Given the description of an element on the screen output the (x, y) to click on. 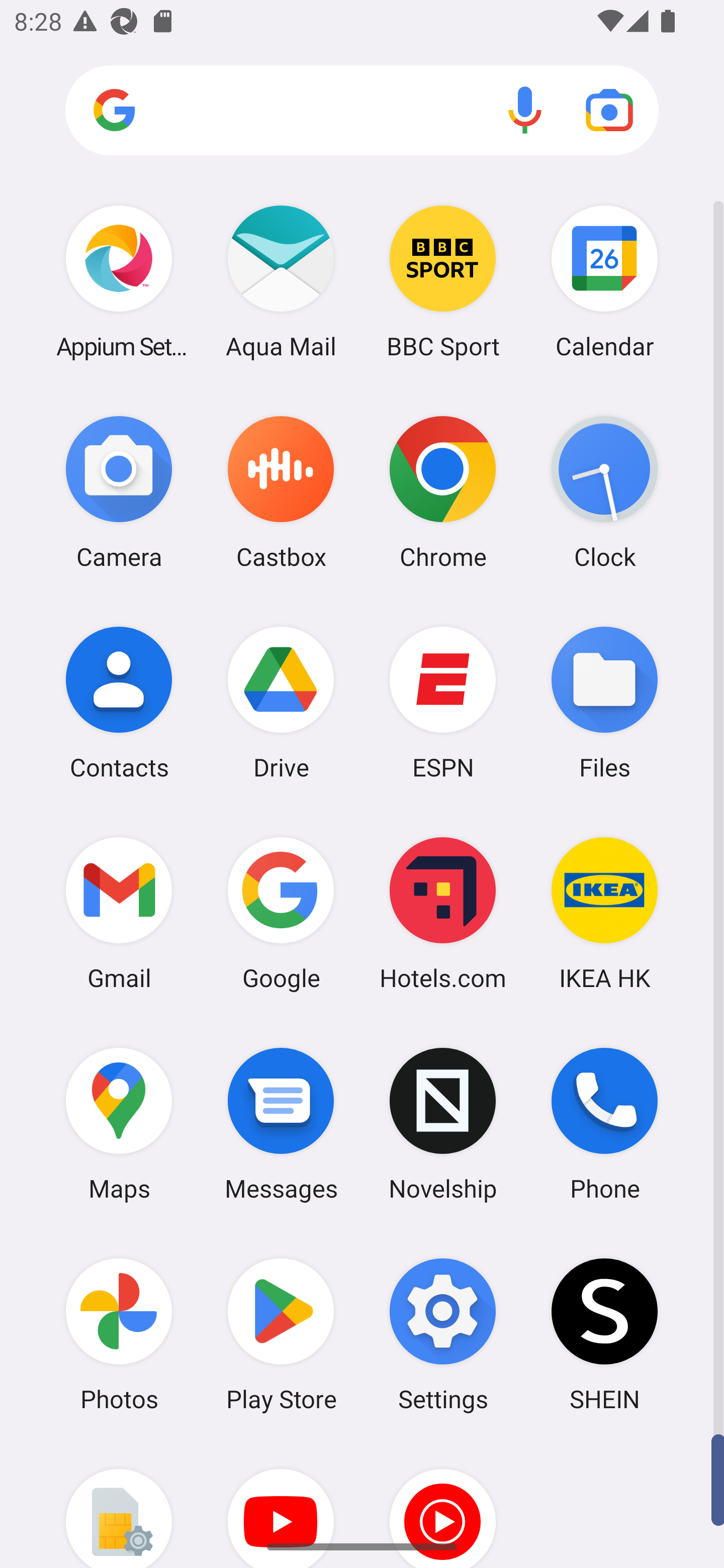
Search apps, web and more (361, 110)
Voice search (524, 109)
Google Lens (608, 109)
Appium Settings (118, 281)
Aqua Mail (280, 281)
BBC Sport (443, 281)
Calendar (604, 281)
Camera (118, 492)
Castbox (280, 492)
Chrome (443, 492)
Clock (604, 492)
Contacts (118, 702)
Drive (280, 702)
ESPN (443, 702)
Files (604, 702)
Gmail (118, 913)
Google (280, 913)
Hotels.com (443, 913)
IKEA HK (604, 913)
Maps (118, 1124)
Messages (280, 1124)
Novelship (443, 1124)
Phone (604, 1124)
Photos (118, 1334)
Play Store (280, 1334)
Settings (443, 1334)
SHEIN (604, 1334)
TMoble (118, 1503)
YouTube (280, 1503)
YT Music (443, 1503)
